Given the description of an element on the screen output the (x, y) to click on. 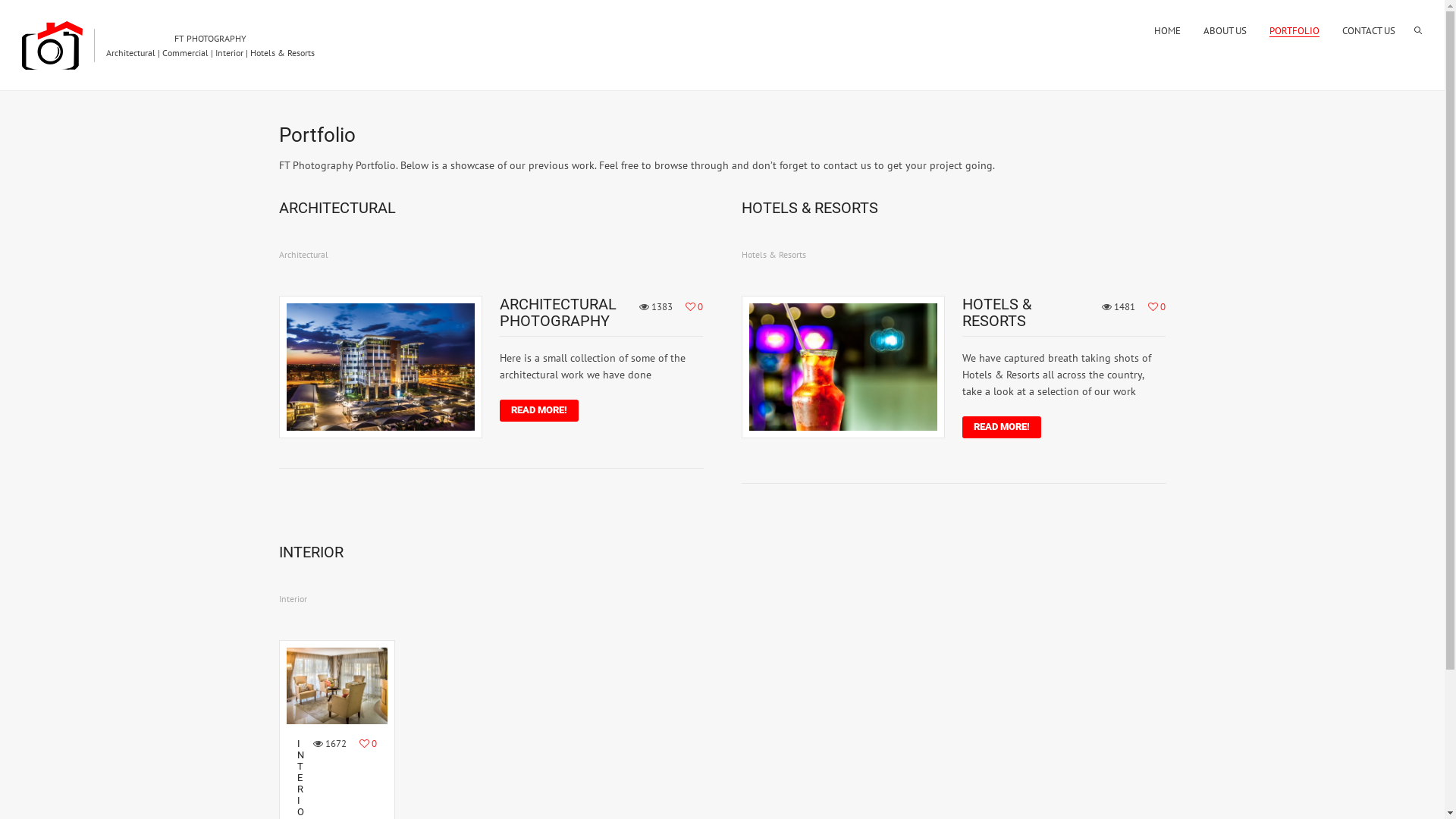
READ MORE! Element type: text (1001, 427)
HOTELS & RESORTS Element type: text (996, 311)
ARCHITECTURAL PHOTOGRAPHY Element type: text (557, 311)
Architectural Element type: text (303, 254)
CONTACT US Element type: text (1368, 30)
READ MORE! Element type: text (538, 410)
ABOUT US Element type: text (1224, 30)
Interior Element type: text (293, 598)
HOME Element type: text (1167, 30)
PORTFOLIO Element type: text (1294, 30)
Hotels & Resorts Element type: text (773, 254)
